Given the description of an element on the screen output the (x, y) to click on. 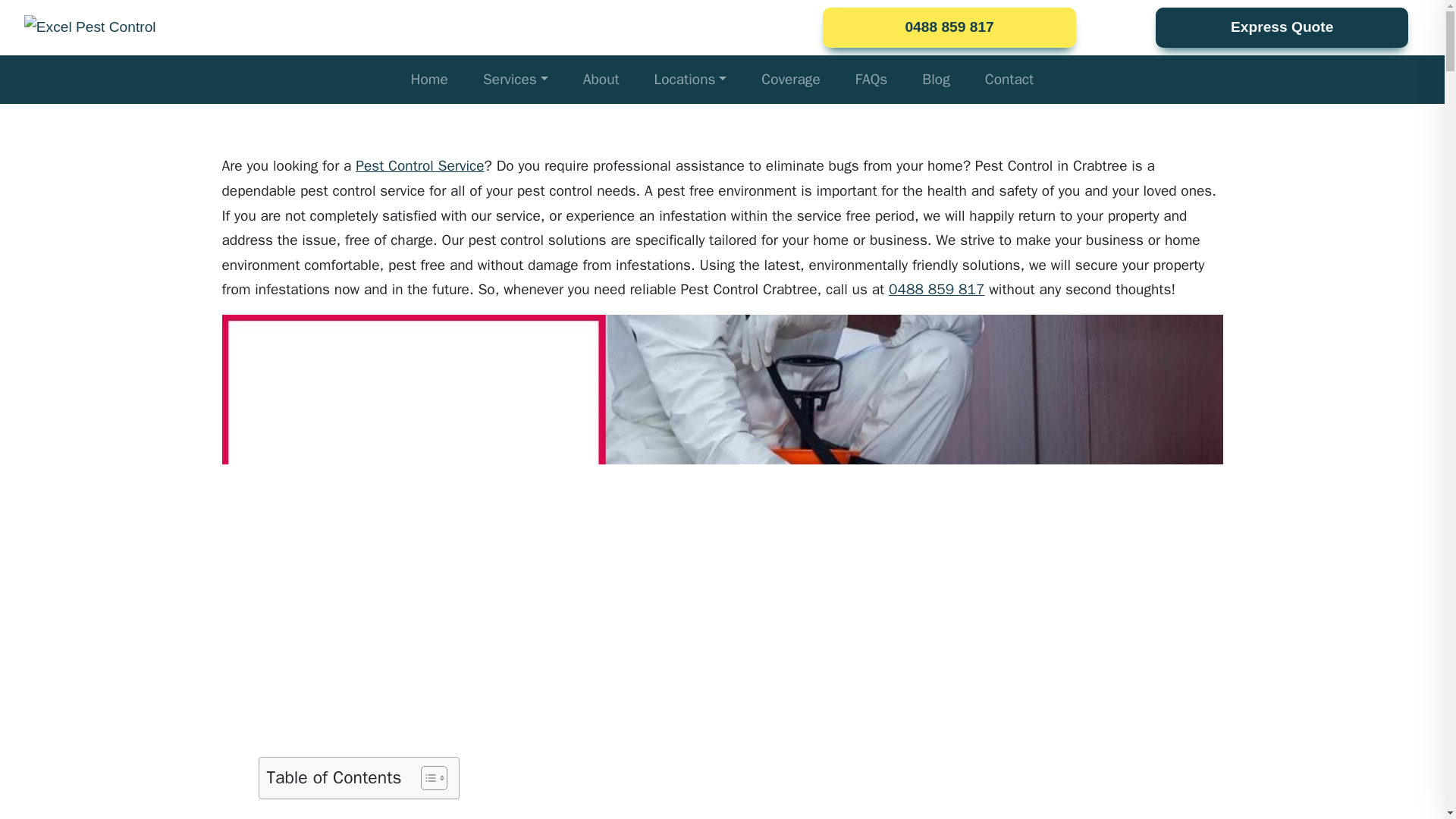
0488 859 817 (948, 26)
0488 859 817 (936, 289)
Pest Control Service (419, 166)
Contact (1008, 79)
Home (429, 79)
FAQs (870, 79)
Coverage (790, 79)
Locations (690, 79)
Express Quote (1281, 26)
Blog (935, 79)
